Given the description of an element on the screen output the (x, y) to click on. 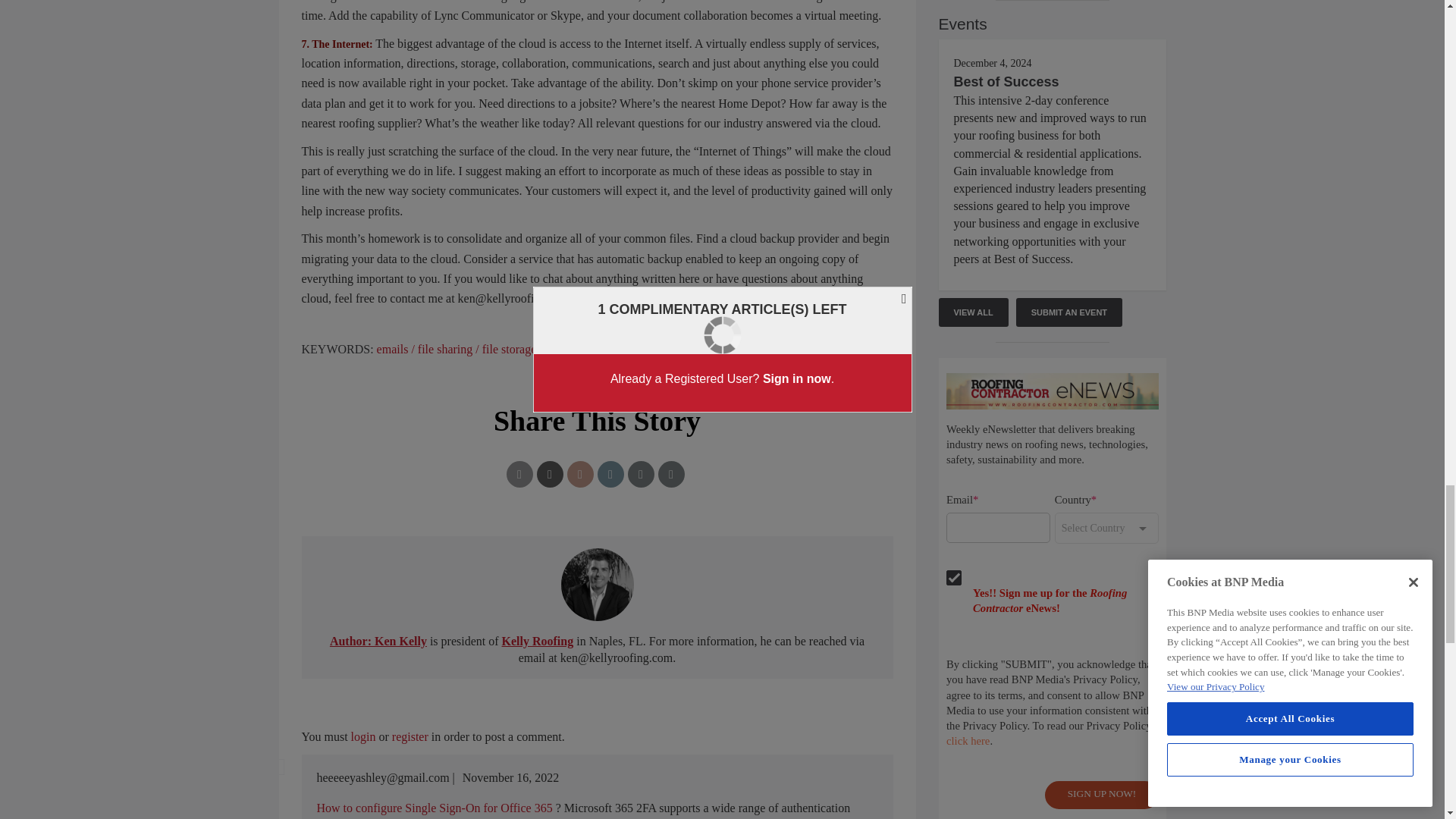
Best of Success (1006, 81)
